Given the description of an element on the screen output the (x, y) to click on. 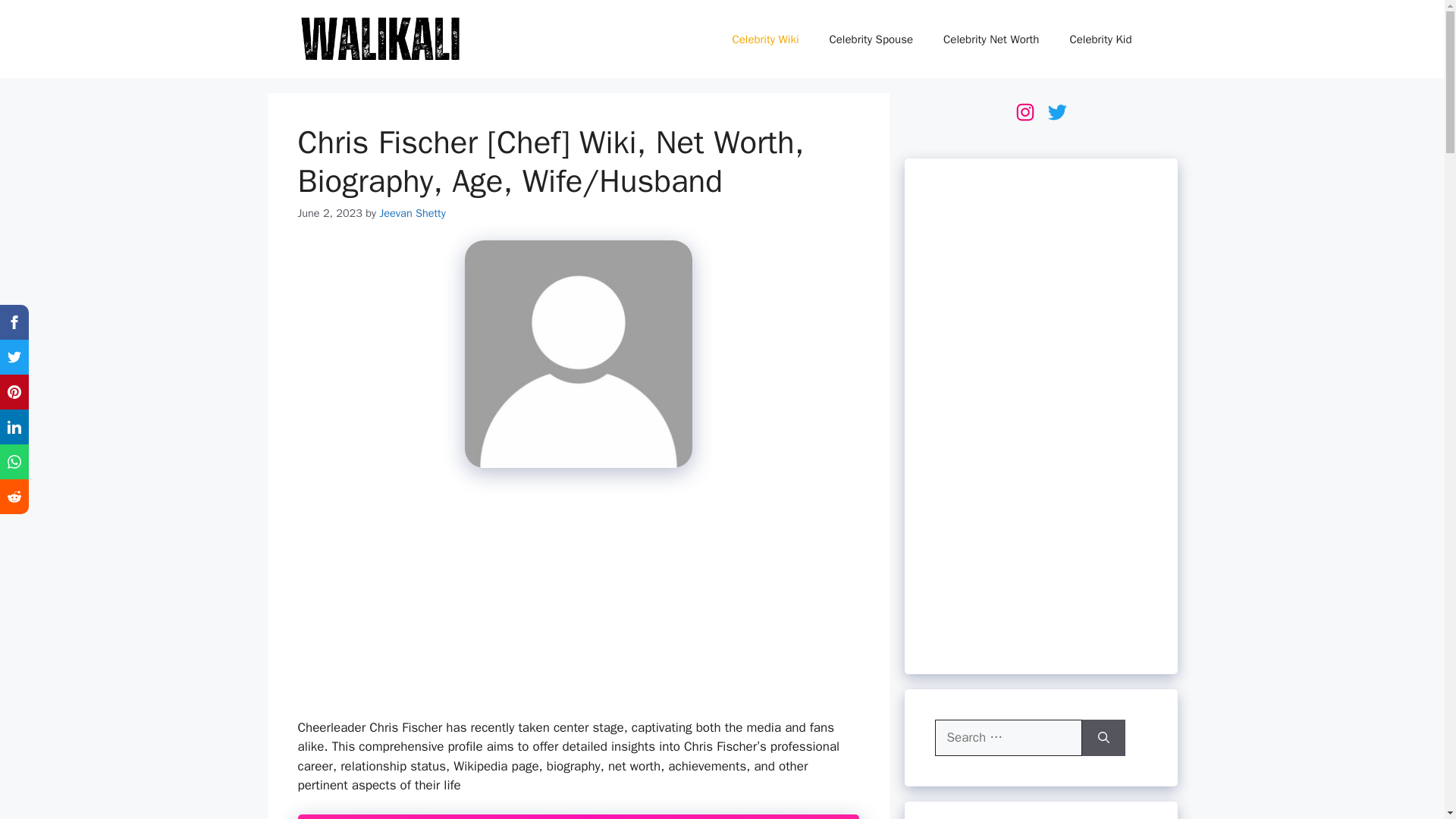
Twitter (1056, 111)
Celebrity Net Worth (991, 39)
Celebrity Kid (1100, 39)
Celebrity Spouse (870, 39)
Search for: (1007, 737)
Advertisement (576, 599)
View all posts by Jeevan Shetty (411, 213)
Instagram (1024, 111)
Jeevan Shetty (411, 213)
Celebrity Wiki (764, 39)
